Given the description of an element on the screen output the (x, y) to click on. 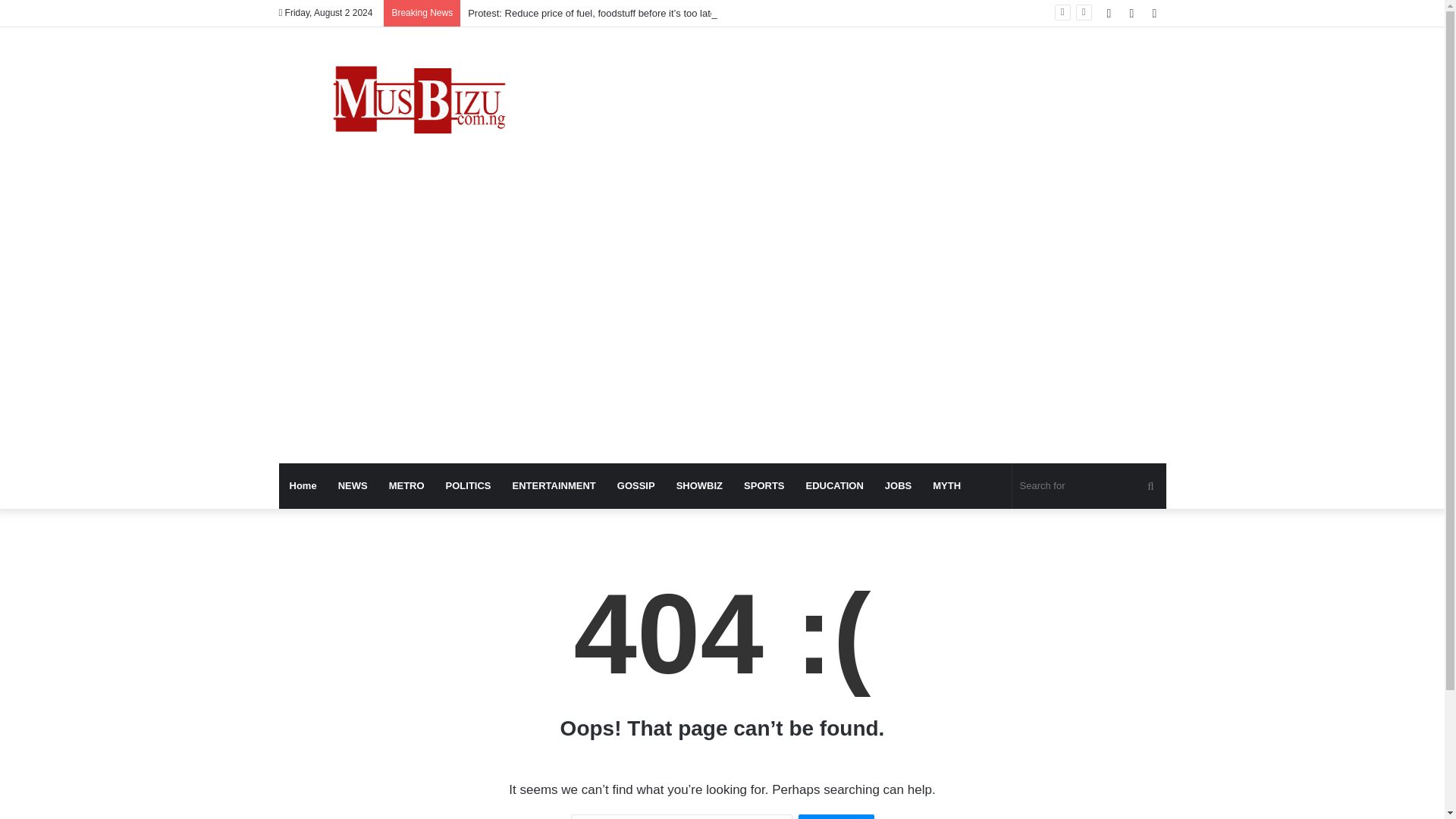
NEWS (352, 485)
POLITICS (468, 485)
MYTH (946, 485)
SPORTS (763, 485)
Search for (1088, 485)
ENTERTAINMENT (554, 485)
SHOWBIZ (699, 485)
EDUCATION (834, 485)
Musbizu (419, 103)
Search (835, 816)
GOSSIP (636, 485)
Search (835, 816)
JOBS (898, 485)
Search (835, 816)
